Given the description of an element on the screen output the (x, y) to click on. 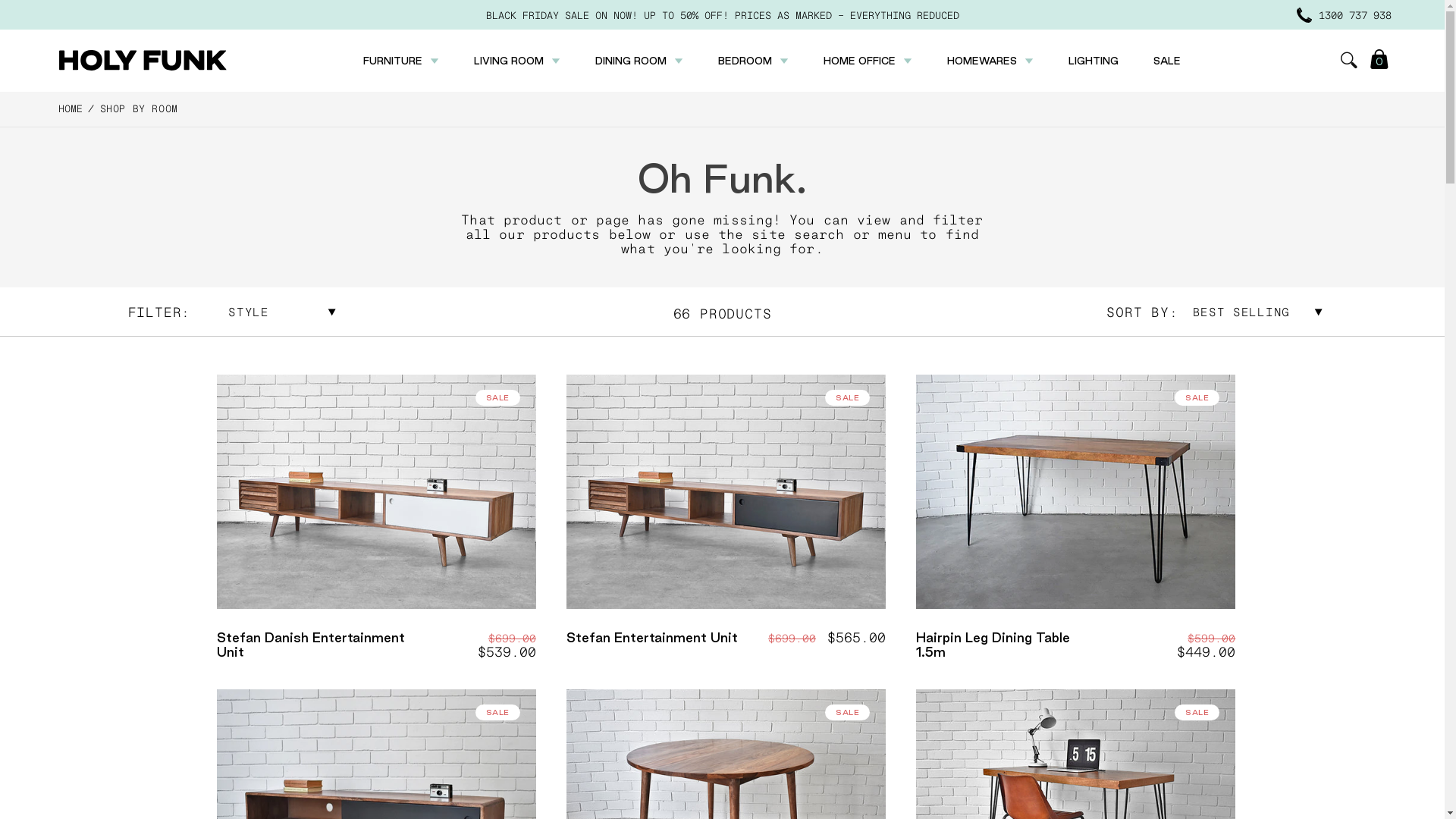
HOME Element type: text (70, 108)
LIVING ROOM Element type: text (507, 60)
DINING ROOM Element type: text (629, 60)
BEDROOM Element type: text (744, 60)
HOMEWARES Element type: text (981, 60)
HOME OFFICE Element type: text (859, 60)
SALE Element type: text (1165, 60)
FURNITURE Element type: text (391, 60)
0 Element type: text (1378, 60)
LIGHTING Element type: text (1092, 60)
1300 737 938 Element type: text (1343, 14)
